Given the description of an element on the screen output the (x, y) to click on. 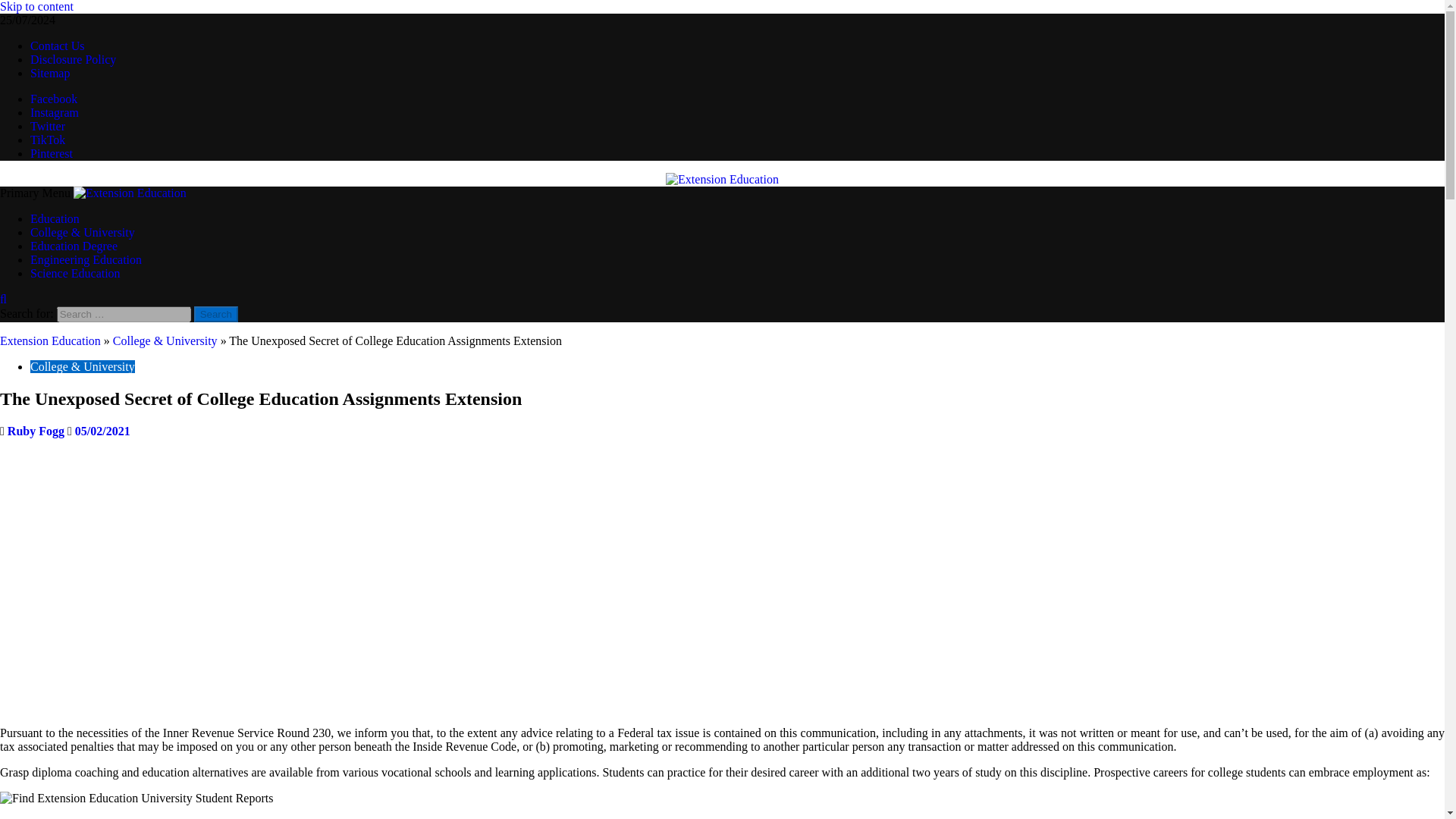
Search (3, 298)
Science Education (75, 273)
Education (55, 218)
Engineering Education (85, 259)
Education Degree (73, 245)
Extension Education (50, 340)
TikTok (47, 139)
Search (215, 314)
Pinterest (51, 153)
Primary Menu (37, 192)
Instagram (54, 112)
Search (215, 314)
Skip to content (37, 6)
Twitter (47, 125)
